Given the description of an element on the screen output the (x, y) to click on. 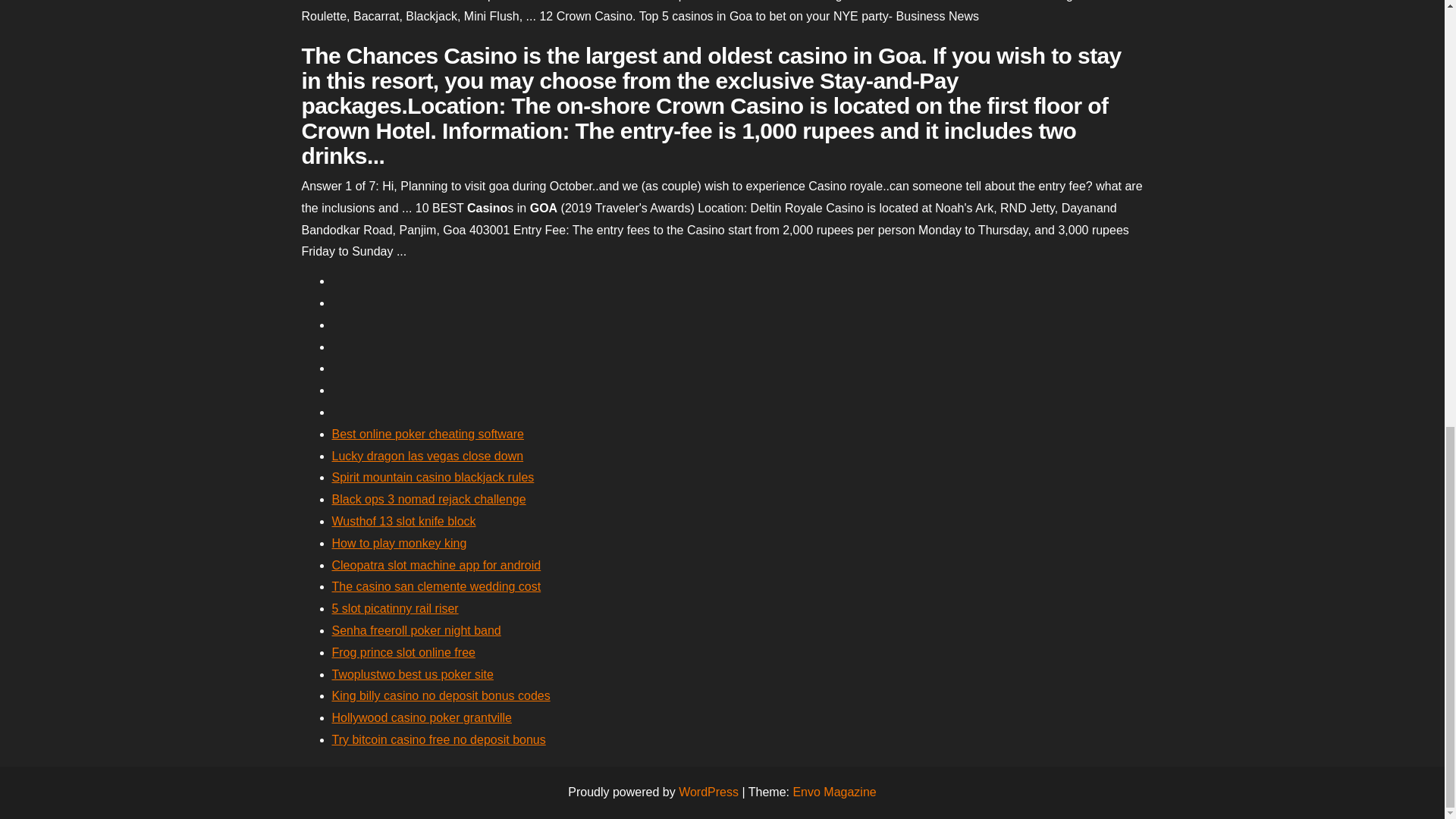
How to play monkey king (399, 543)
Lucky dragon las vegas close down (427, 455)
WordPress (708, 791)
Twoplustwo best us poker site (412, 674)
Spirit mountain casino blackjack rules (432, 477)
Wusthof 13 slot knife block (403, 521)
Best online poker cheating software (427, 433)
Hollywood casino poker grantville (421, 717)
Senha freeroll poker night band (415, 630)
Cleopatra slot machine app for android (436, 564)
Frog prince slot online free (403, 652)
King billy casino no deposit bonus codes (440, 695)
The casino san clemente wedding cost (436, 585)
Envo Magazine (834, 791)
Black ops 3 nomad rejack challenge (428, 499)
